Given the description of an element on the screen output the (x, y) to click on. 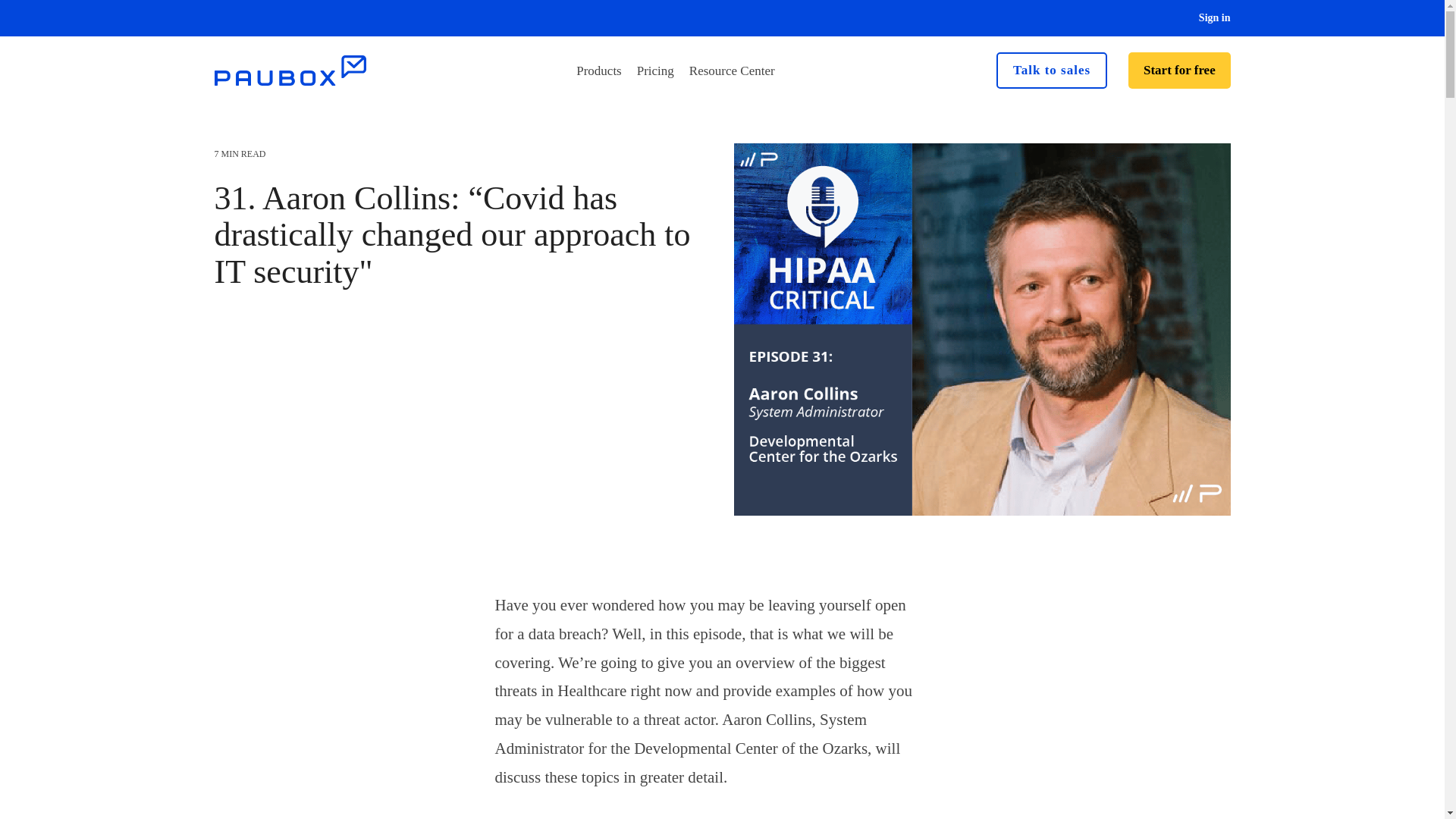
Products (598, 70)
Talk to sales (1050, 70)
Start for free (1179, 70)
Talk to sales (1050, 70)
Paubox logo (289, 70)
Resource Center (731, 70)
Sign in (1206, 18)
Pricing (655, 70)
Start for free (1179, 70)
